Given the description of an element on the screen output the (x, y) to click on. 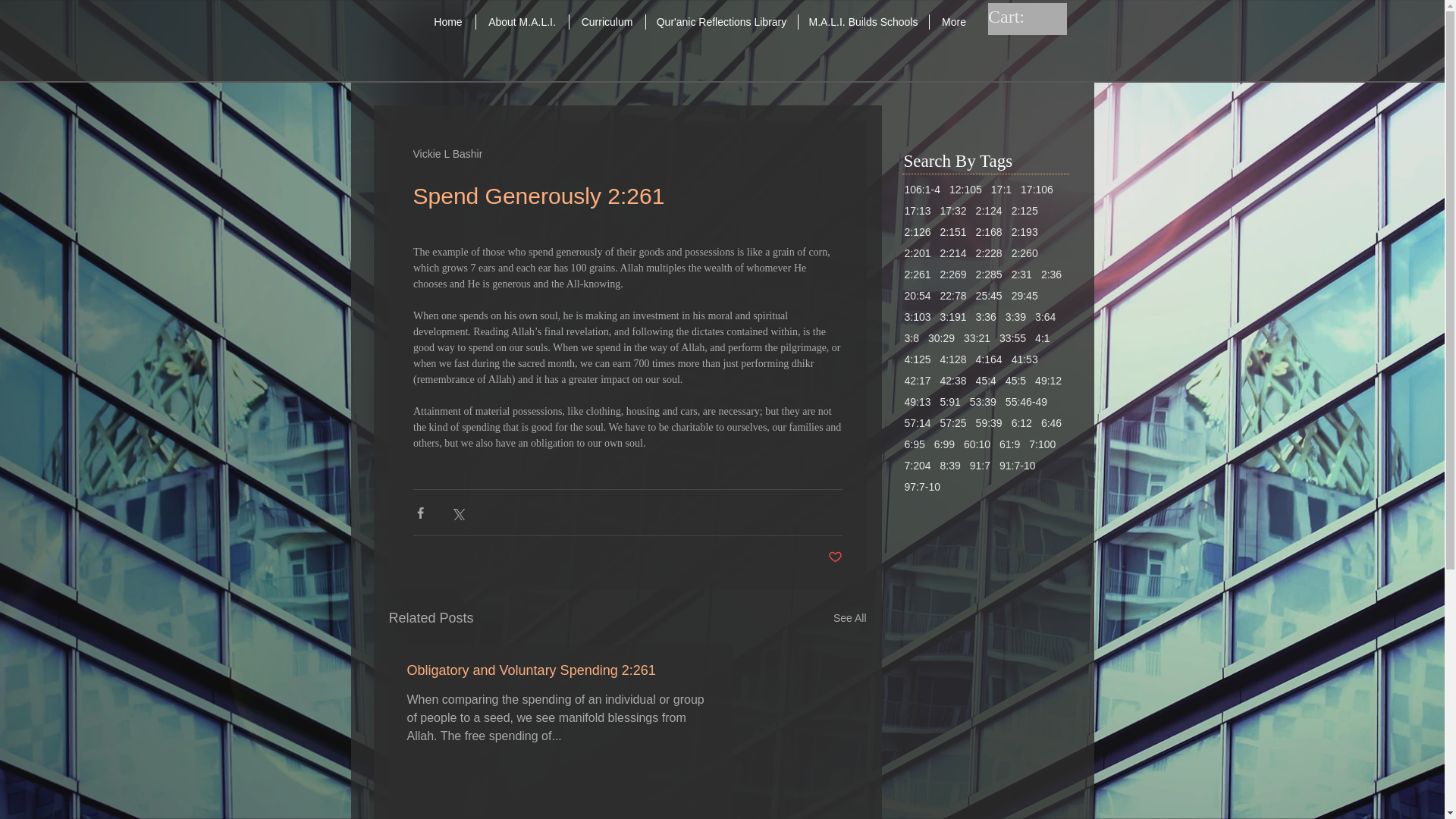
2:126 (917, 232)
About M.A.L.I. (522, 21)
2:214 (953, 253)
Qur'anic Reflections Library (721, 21)
Obligatory and Voluntary Spending 2:261 (560, 670)
M.A.L.I. Builds Schools (862, 21)
2:151 (953, 232)
See All (849, 618)
Post not marked as liked (835, 557)
2:201 (917, 253)
106:1-4 (921, 189)
Curriculum (607, 21)
Vickie L Bashir (446, 153)
Cart: (1020, 16)
17:1 (1001, 189)
